Given the description of an element on the screen output the (x, y) to click on. 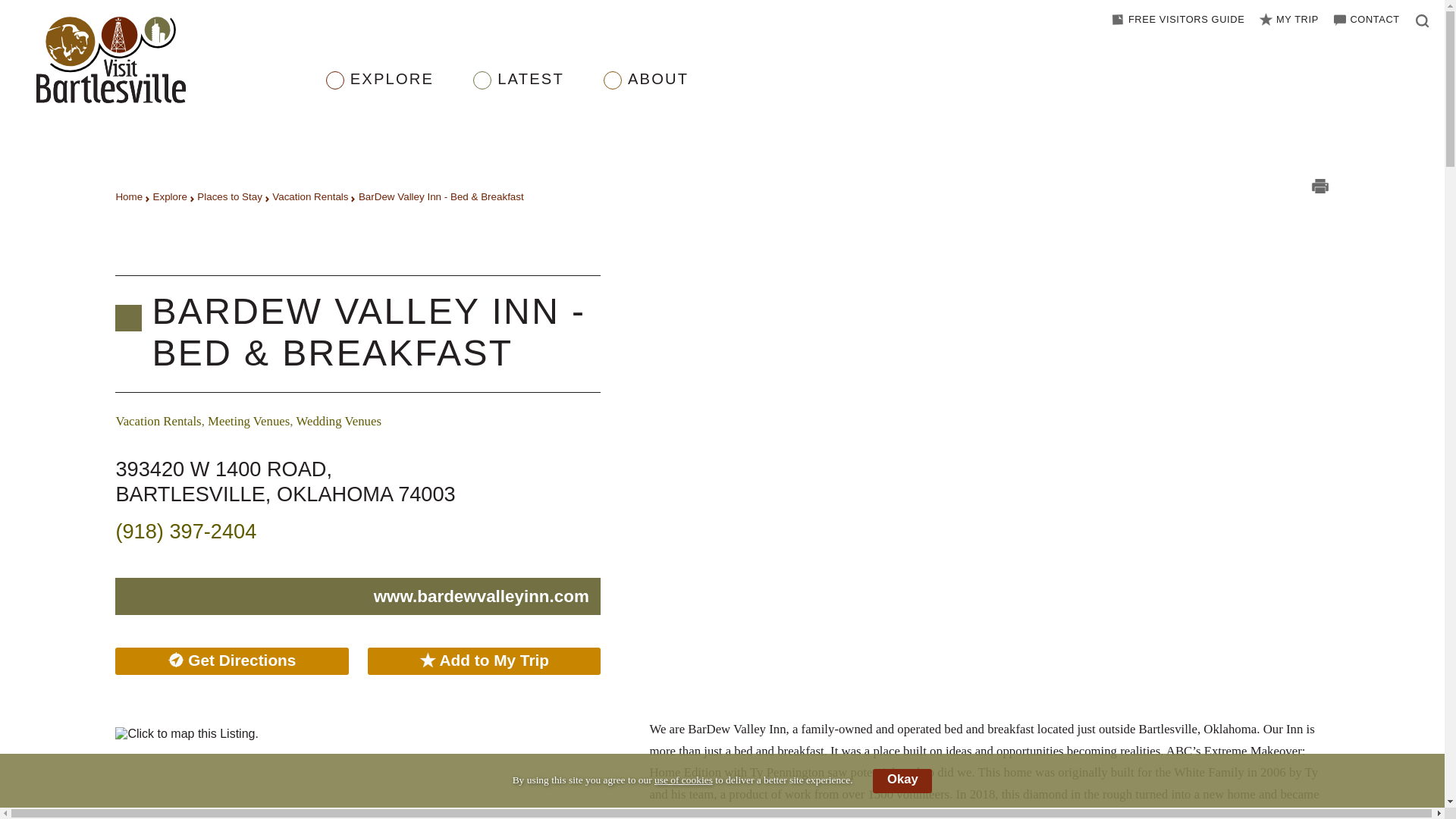
Download your Free Visitors Guide (1176, 19)
Return to the Visit Bartlesville home page. (167, 61)
EXPLORE (391, 90)
Okay (901, 781)
Explore all listings in the Wedding Venues category. (338, 421)
LATEST (530, 90)
Explore (169, 196)
View your selected My Trip details. (1287, 19)
Vacation Rentals (309, 196)
Explore all listings in the Vacation Rentals category. (157, 421)
Explore all listings in the Meeting Venues category. (248, 421)
Home (128, 196)
Print this page. (1313, 188)
Contact Visit Bartlesville (1364, 19)
ABOUT (657, 90)
